Given the description of an element on the screen output the (x, y) to click on. 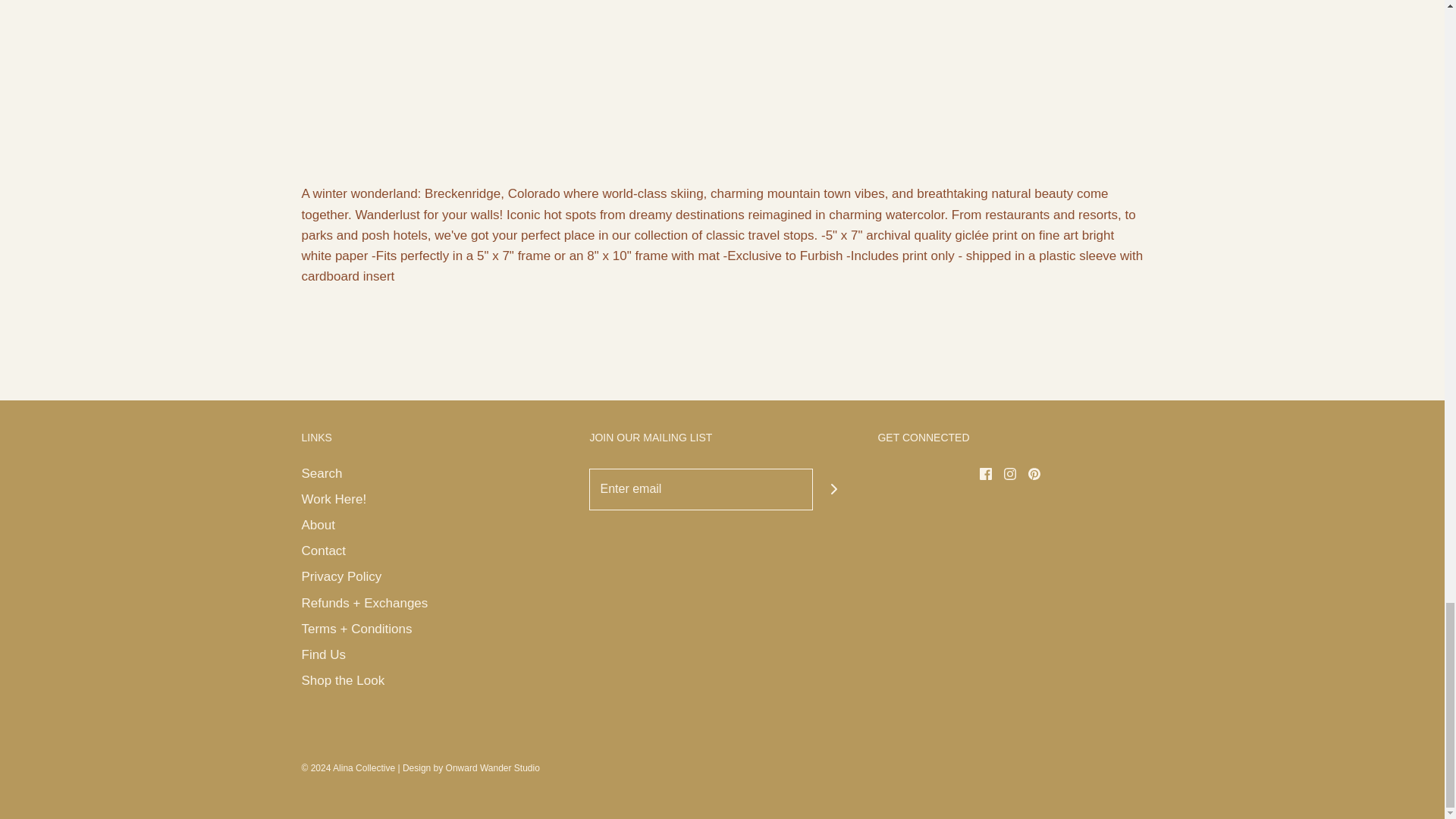
Facebook icon (985, 473)
Instagram icon (1010, 473)
Pinterest icon (1034, 473)
